Given the description of an element on the screen output the (x, y) to click on. 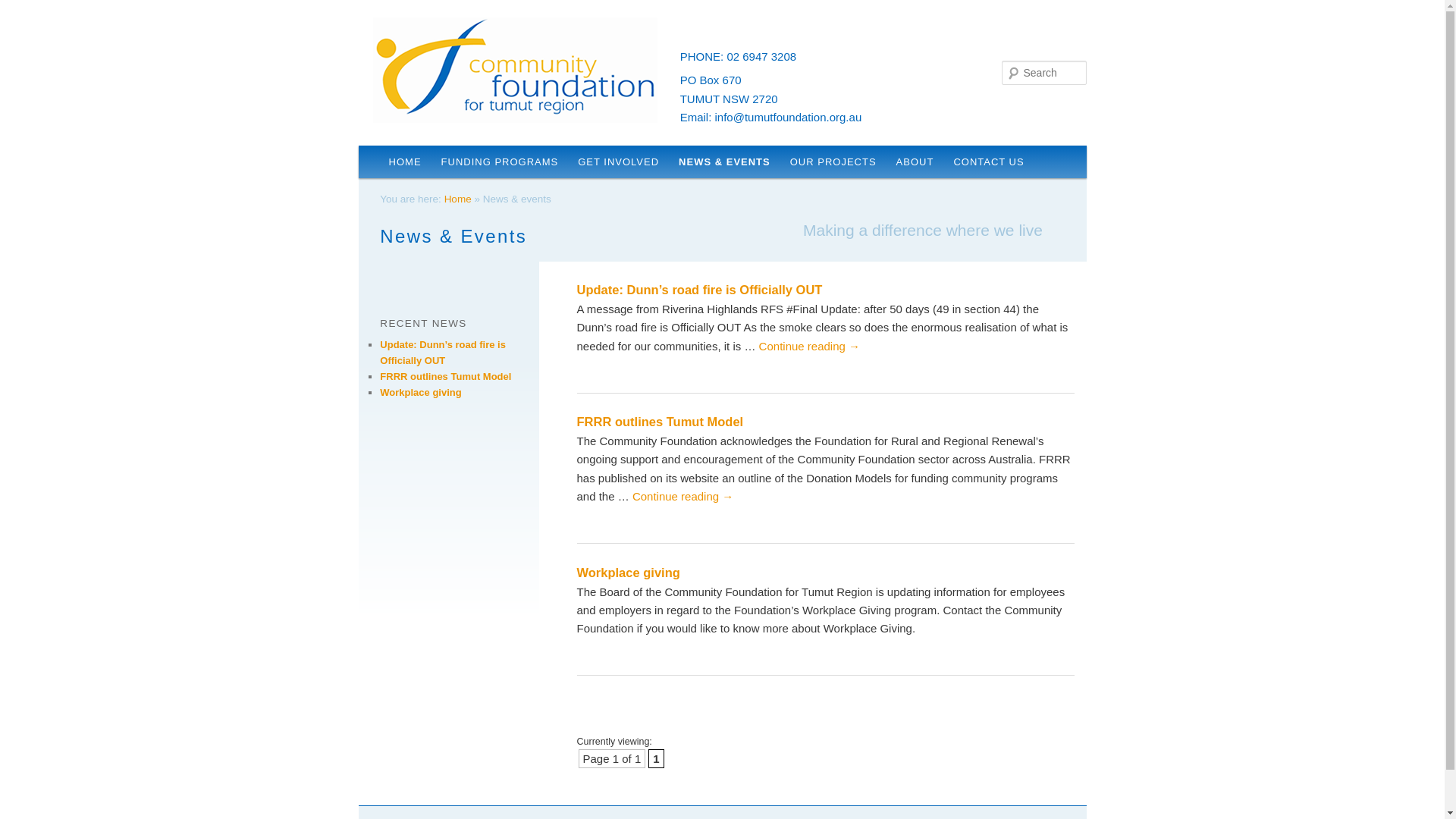
Workplace giving Element type: text (627, 572)
CONTACT US Element type: text (988, 161)
NEWS & EVENTS Element type: text (724, 161)
SKIP TO PRIMARY CONTENT Element type: text (384, 145)
02 6947 3208 Element type: text (761, 56)
Search Element type: text (24, 8)
GET INVOLVED Element type: text (617, 161)
HOME Element type: text (405, 161)
Workplace giving Element type: text (420, 392)
FRRR outlines Tumut Model Element type: text (445, 376)
Tumut Community Foundation : Home Element type: hover (515, 69)
ABOUT Element type: text (915, 161)
FUNDING PROGRAMS Element type: text (499, 161)
Home Element type: text (457, 198)
OUR PROJECTS Element type: text (833, 161)
info@tumutfoundation.org.au Element type: text (788, 116)
FRRR outlines Tumut Model Element type: text (659, 421)
